Given the description of an element on the screen output the (x, y) to click on. 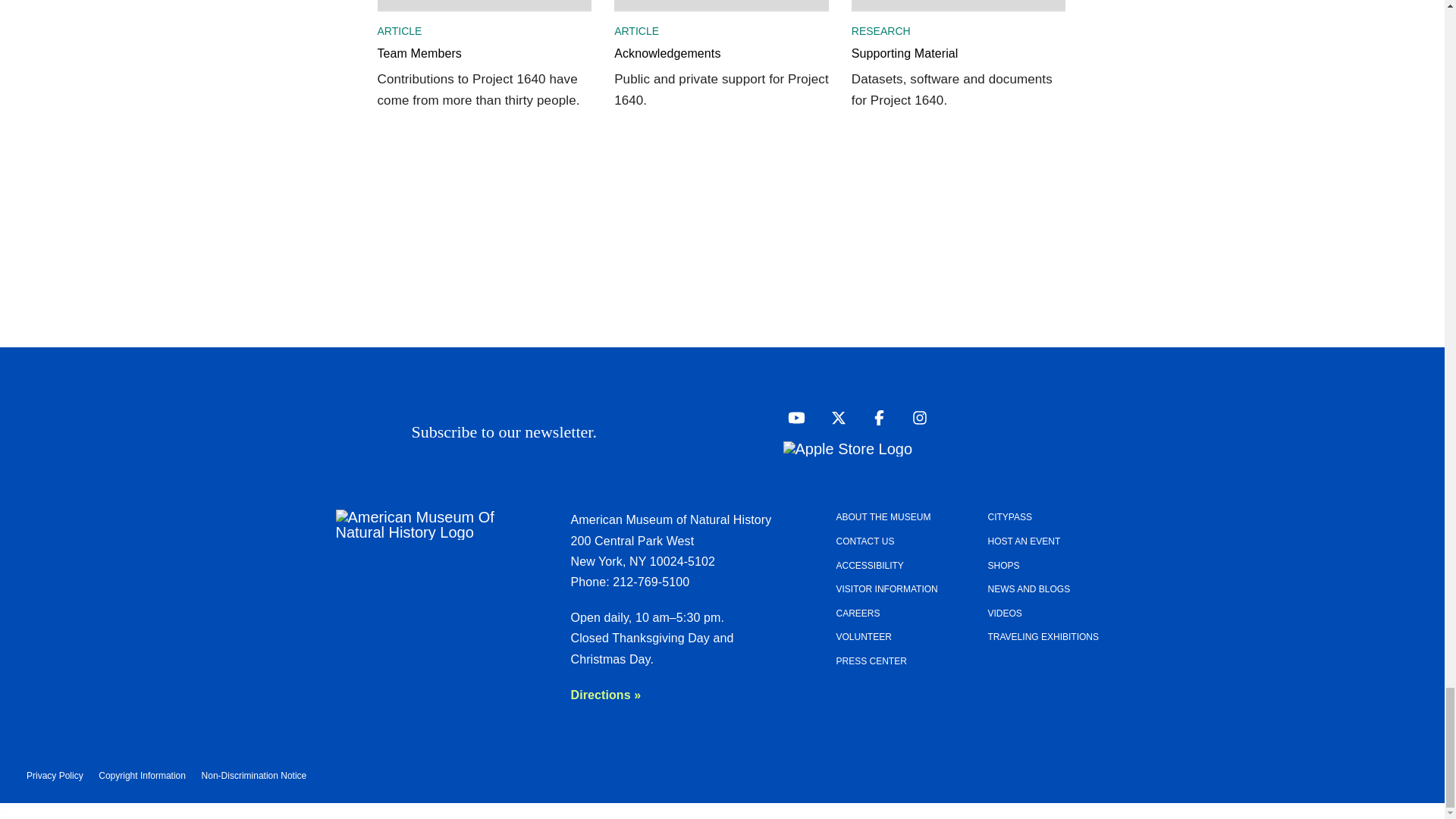
Supporting Material (958, 61)
Team Members (484, 61)
Acknowledgements (721, 61)
